Given the description of an element on the screen output the (x, y) to click on. 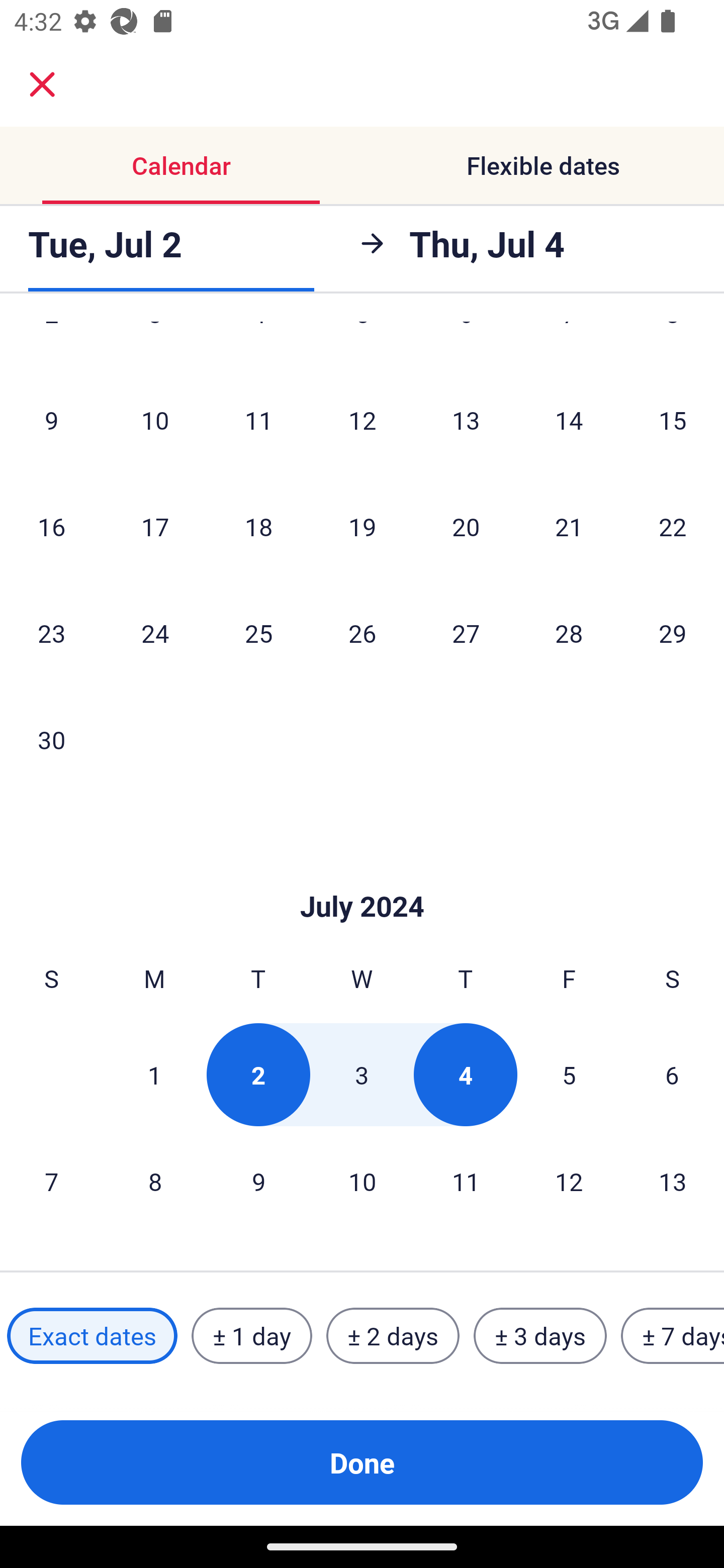
close. (42, 84)
Flexible dates (542, 164)
9 Sunday, June 9, 2024 (51, 419)
10 Monday, June 10, 2024 (155, 419)
11 Tuesday, June 11, 2024 (258, 419)
12 Wednesday, June 12, 2024 (362, 419)
13 Thursday, June 13, 2024 (465, 419)
14 Friday, June 14, 2024 (569, 419)
15 Saturday, June 15, 2024 (672, 419)
16 Sunday, June 16, 2024 (51, 526)
17 Monday, June 17, 2024 (155, 526)
18 Tuesday, June 18, 2024 (258, 526)
19 Wednesday, June 19, 2024 (362, 526)
20 Thursday, June 20, 2024 (465, 526)
21 Friday, June 21, 2024 (569, 526)
22 Saturday, June 22, 2024 (672, 526)
23 Sunday, June 23, 2024 (51, 633)
24 Monday, June 24, 2024 (155, 633)
25 Tuesday, June 25, 2024 (258, 633)
26 Wednesday, June 26, 2024 (362, 633)
27 Thursday, June 27, 2024 (465, 633)
28 Friday, June 28, 2024 (569, 633)
29 Saturday, June 29, 2024 (672, 633)
30 Sunday, June 30, 2024 (51, 739)
Skip to Done (362, 876)
1 Monday, July 1, 2024 (154, 1074)
5 Friday, July 5, 2024 (568, 1074)
6 Saturday, July 6, 2024 (672, 1074)
7 Sunday, July 7, 2024 (51, 1181)
8 Monday, July 8, 2024 (155, 1181)
9 Tuesday, July 9, 2024 (258, 1181)
10 Wednesday, July 10, 2024 (362, 1181)
11 Thursday, July 11, 2024 (465, 1181)
12 Friday, July 12, 2024 (569, 1181)
13 Saturday, July 13, 2024 (672, 1181)
Exact dates (92, 1335)
± 1 day (251, 1335)
± 2 days (392, 1335)
± 3 days (539, 1335)
± 7 days (672, 1335)
Done (361, 1462)
